Given the description of an element on the screen output the (x, y) to click on. 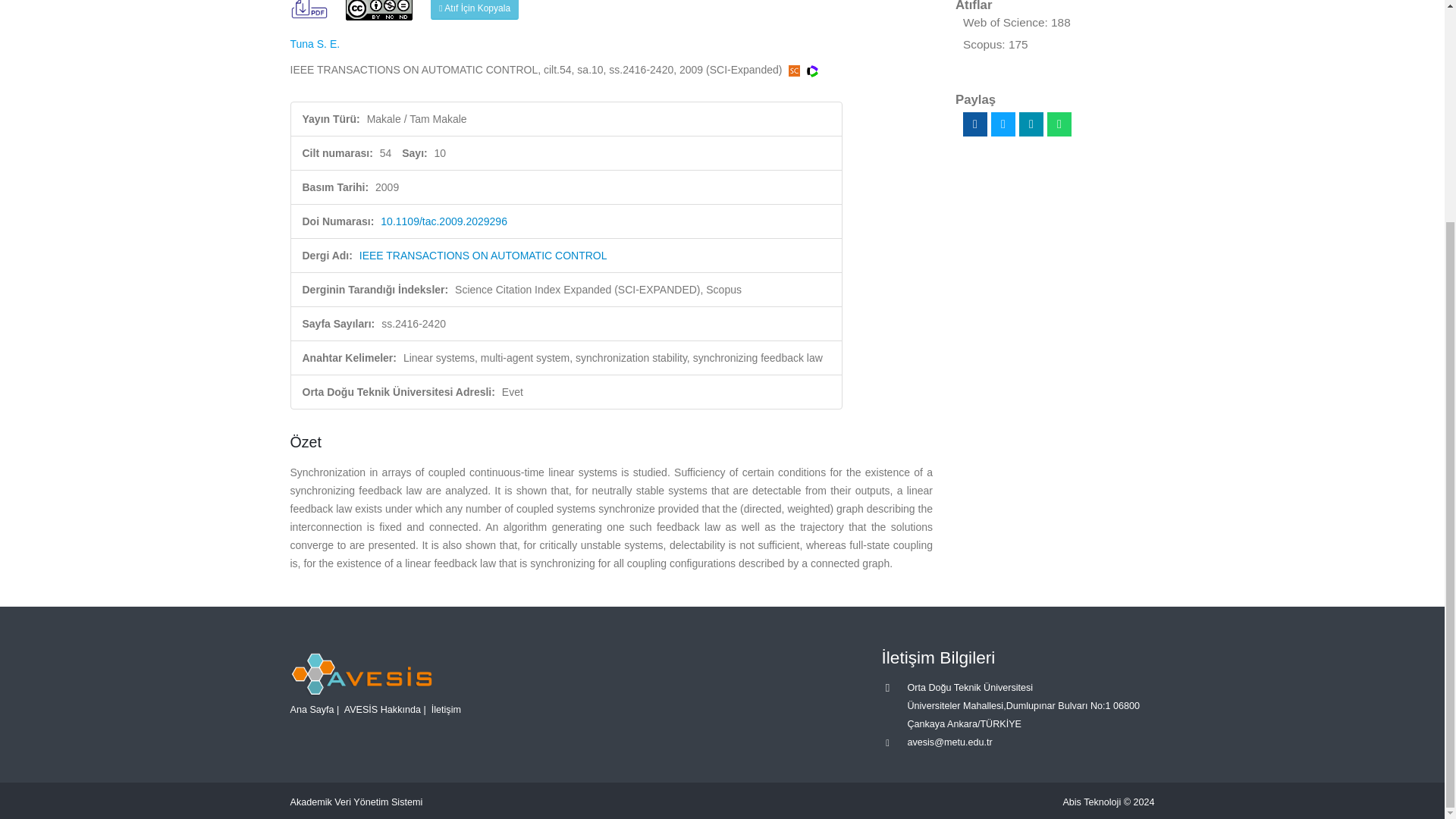
Abis Teknoloji (1091, 801)
IEEE TRANSACTIONS ON AUTOMATIC CONTROL (483, 255)
Ana Sayfa (311, 709)
Tuna S. E. (314, 43)
